Given the description of an element on the screen output the (x, y) to click on. 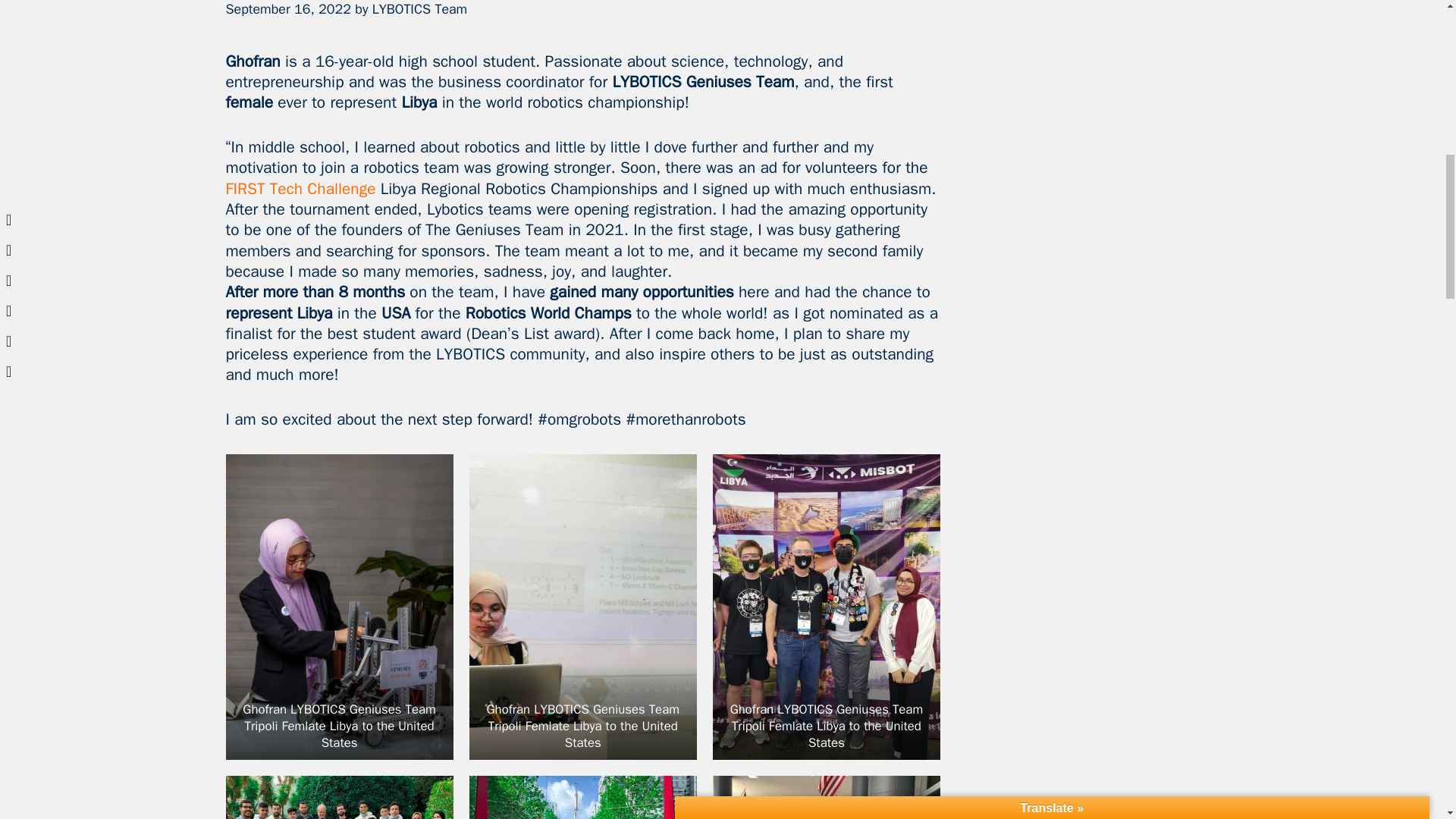
LYBOTICS Team (419, 8)
View all posts by LYBOTICS Team (419, 8)
2:04 am (287, 8)
FIRST Tech Challenge (300, 189)
September 16, 2022 (287, 8)
